Given the description of an element on the screen output the (x, y) to click on. 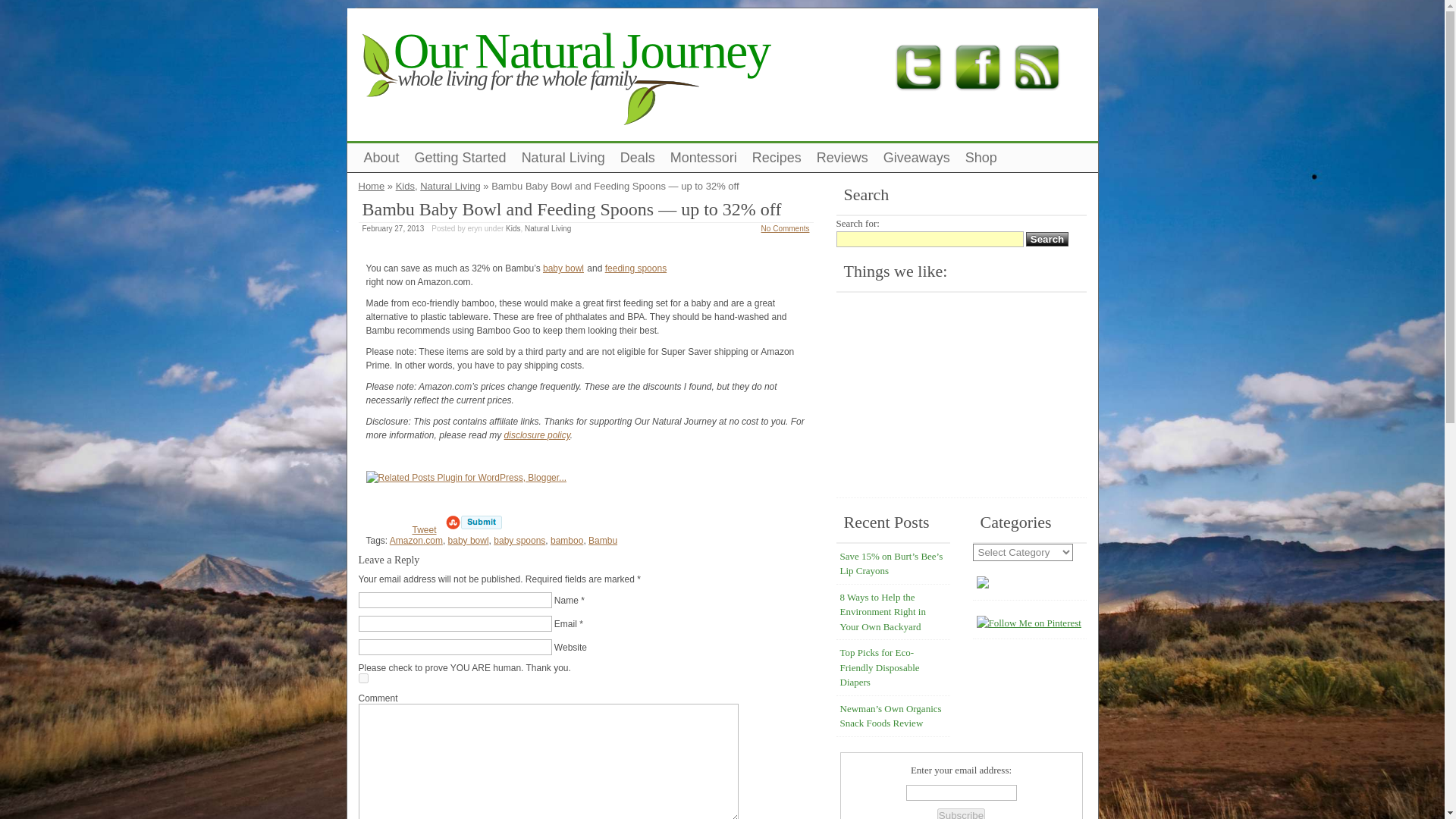
Deals (637, 157)
Natural Living (562, 157)
Kids (512, 228)
Getting Started (460, 157)
on (363, 678)
Reviews (842, 157)
feeding spoons (635, 267)
Montessori (703, 157)
Giveaways (917, 157)
Kids (405, 185)
